Given the description of an element on the screen output the (x, y) to click on. 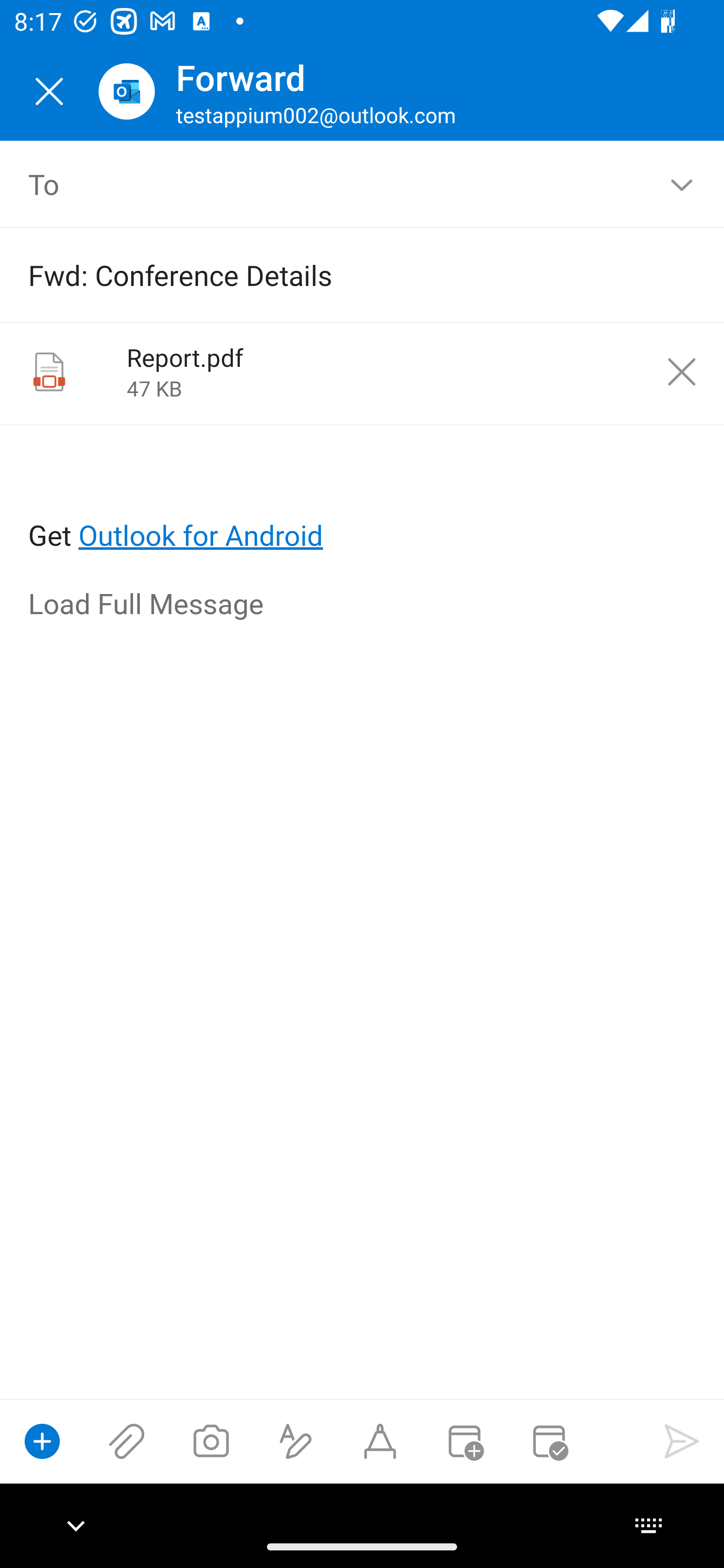
Close (49, 91)
Fwd: Conference Details (333, 274)
Report.pdf 47 KB Remove attachment Report.pdf (362, 373)
Remove attachment Report.pdf (681, 372)


Get Outlook for Android (363, 502)
Load Full Message (363, 605)
Show compose options (42, 1440)
Attach files (126, 1440)
Take a photo (210, 1440)
Show formatting options (295, 1440)
Start Ink compose (380, 1440)
Convert to event (464, 1440)
Send availability (548, 1440)
Send (681, 1440)
